Given the description of an element on the screen output the (x, y) to click on. 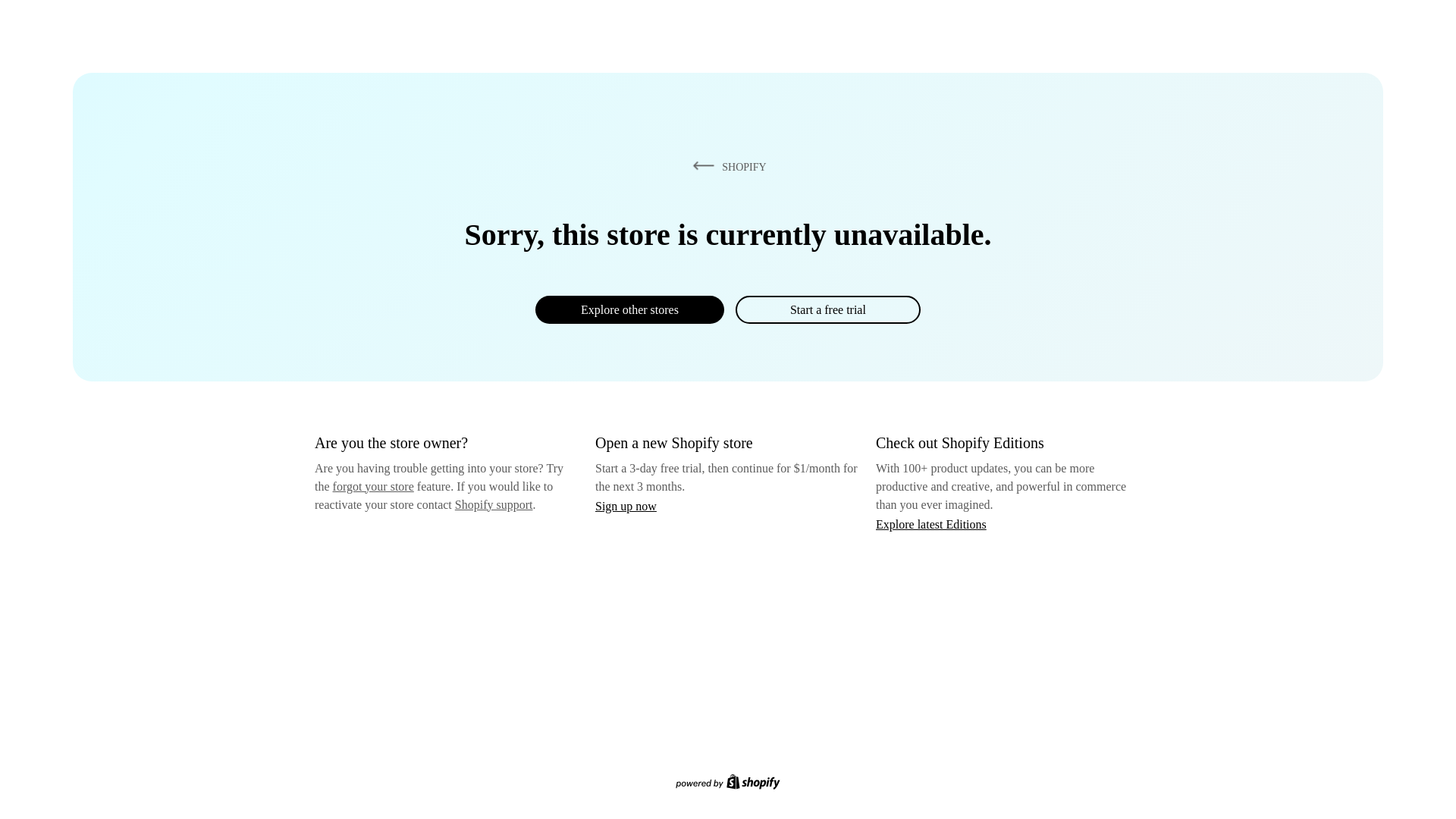
SHOPIFY (726, 166)
Start a free trial (827, 309)
Shopify support (493, 504)
Explore other stores (629, 309)
Explore latest Editions (931, 523)
Sign up now (625, 505)
forgot your store (373, 486)
